Given the description of an element on the screen output the (x, y) to click on. 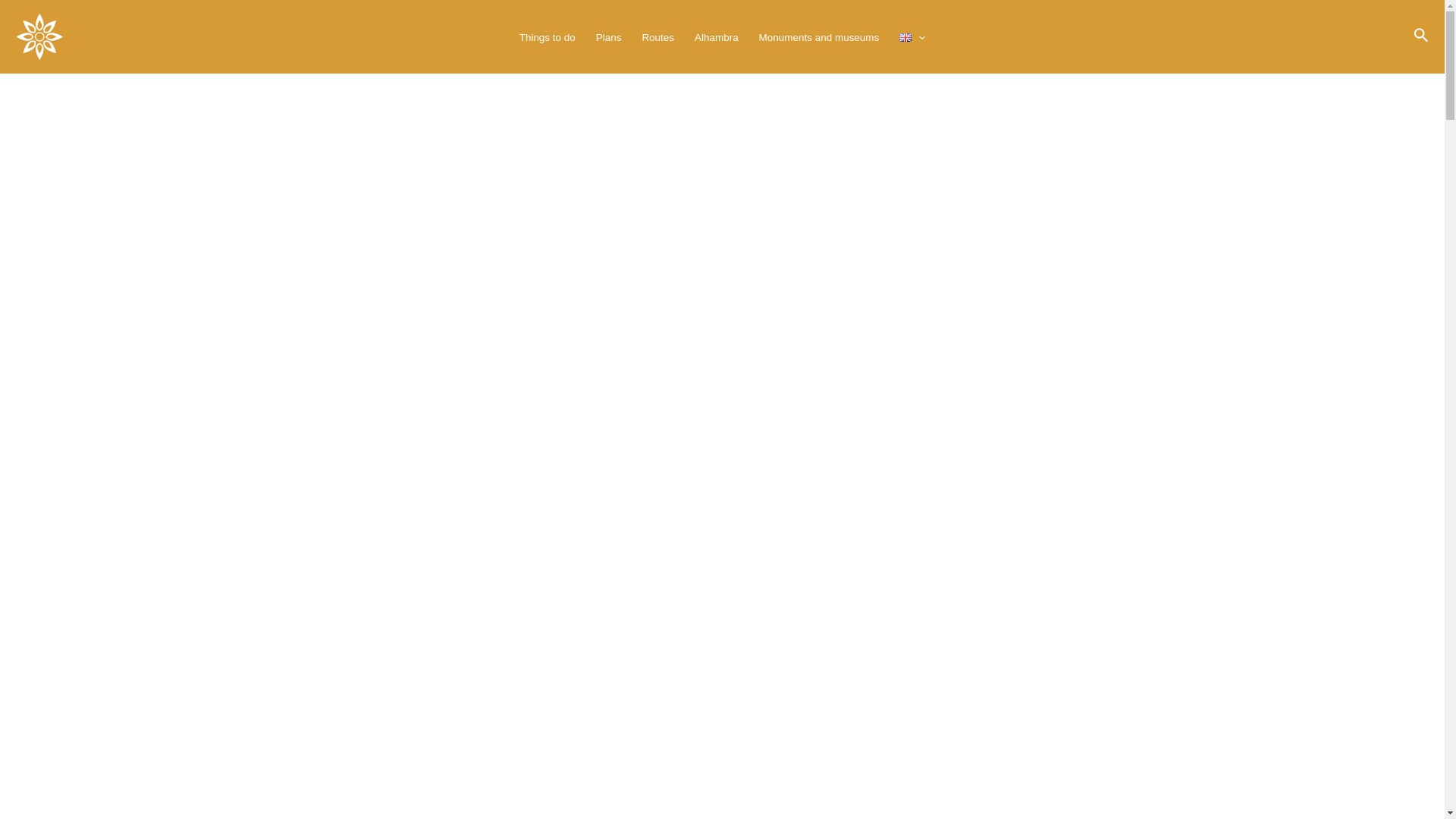
Plans (608, 36)
Monuments and museums (818, 36)
Routes (657, 36)
Things to do (546, 36)
Alhambra (716, 36)
